Given the description of an element on the screen output the (x, y) to click on. 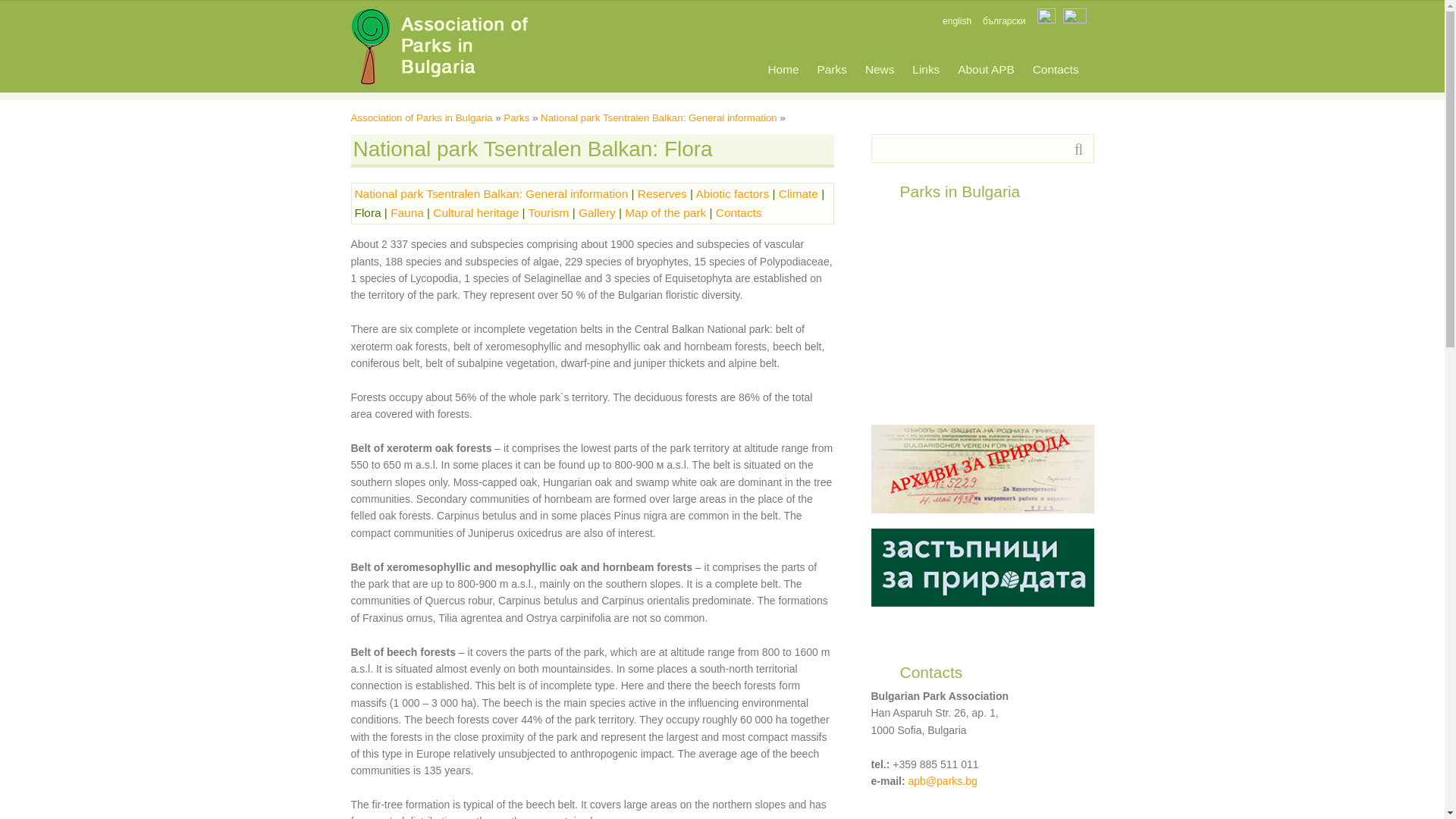
Map of the park (665, 212)
Gallery (596, 212)
Go to Parks. (516, 117)
Reserves (662, 193)
Go to National park Tsentralen Balkan: General information. (658, 117)
Cultural heritage (475, 212)
Home (783, 68)
Parks (516, 117)
Contacts (1055, 68)
Climate (798, 193)
